Given the description of an element on the screen output the (x, y) to click on. 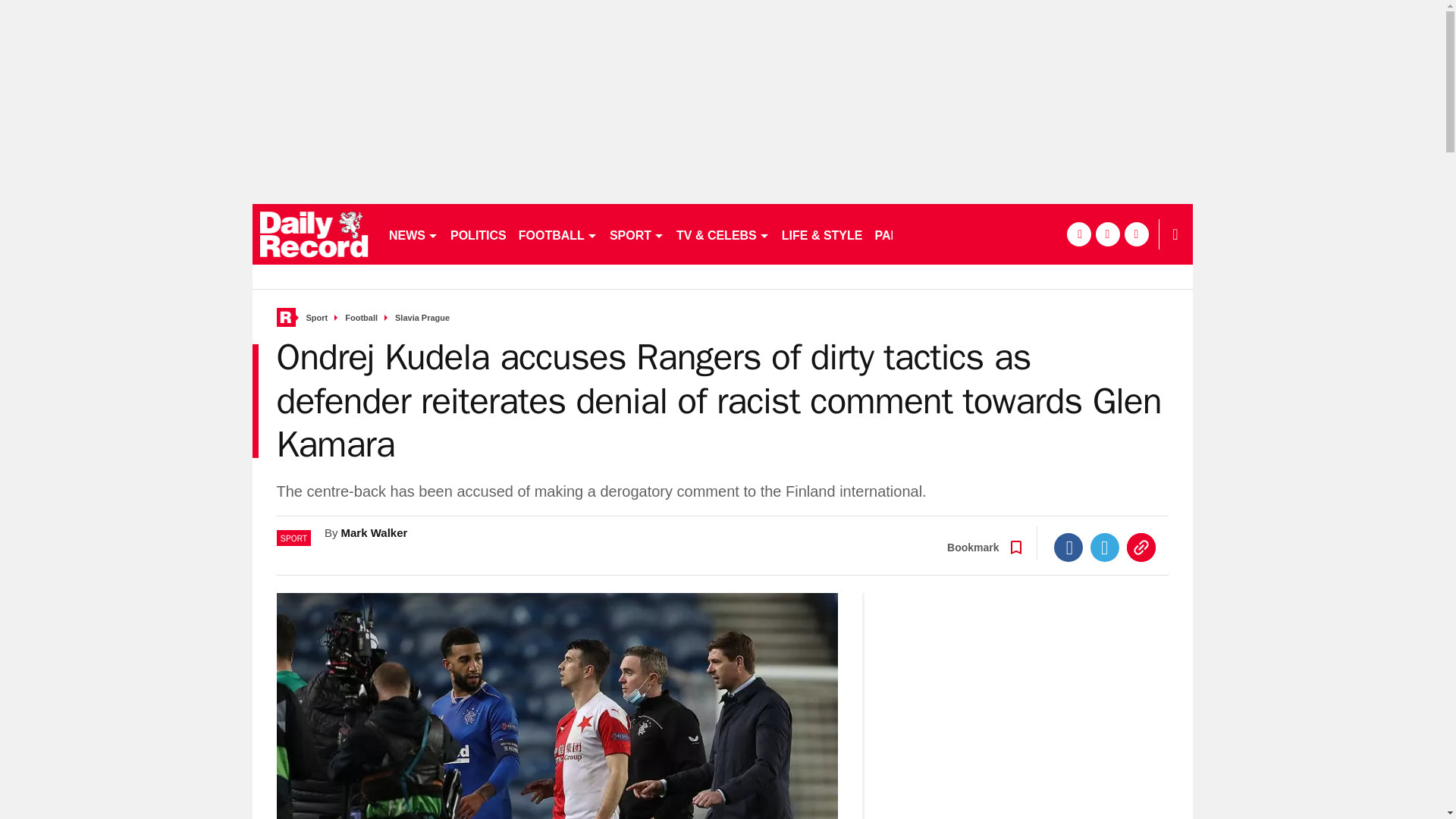
POLITICS (478, 233)
Facebook (1068, 547)
NEWS (413, 233)
FOOTBALL (558, 233)
Twitter (1104, 547)
dailyrecord (313, 233)
instagram (1136, 233)
SPORT (636, 233)
twitter (1106, 233)
facebook (1077, 233)
